Given the description of an element on the screen output the (x, y) to click on. 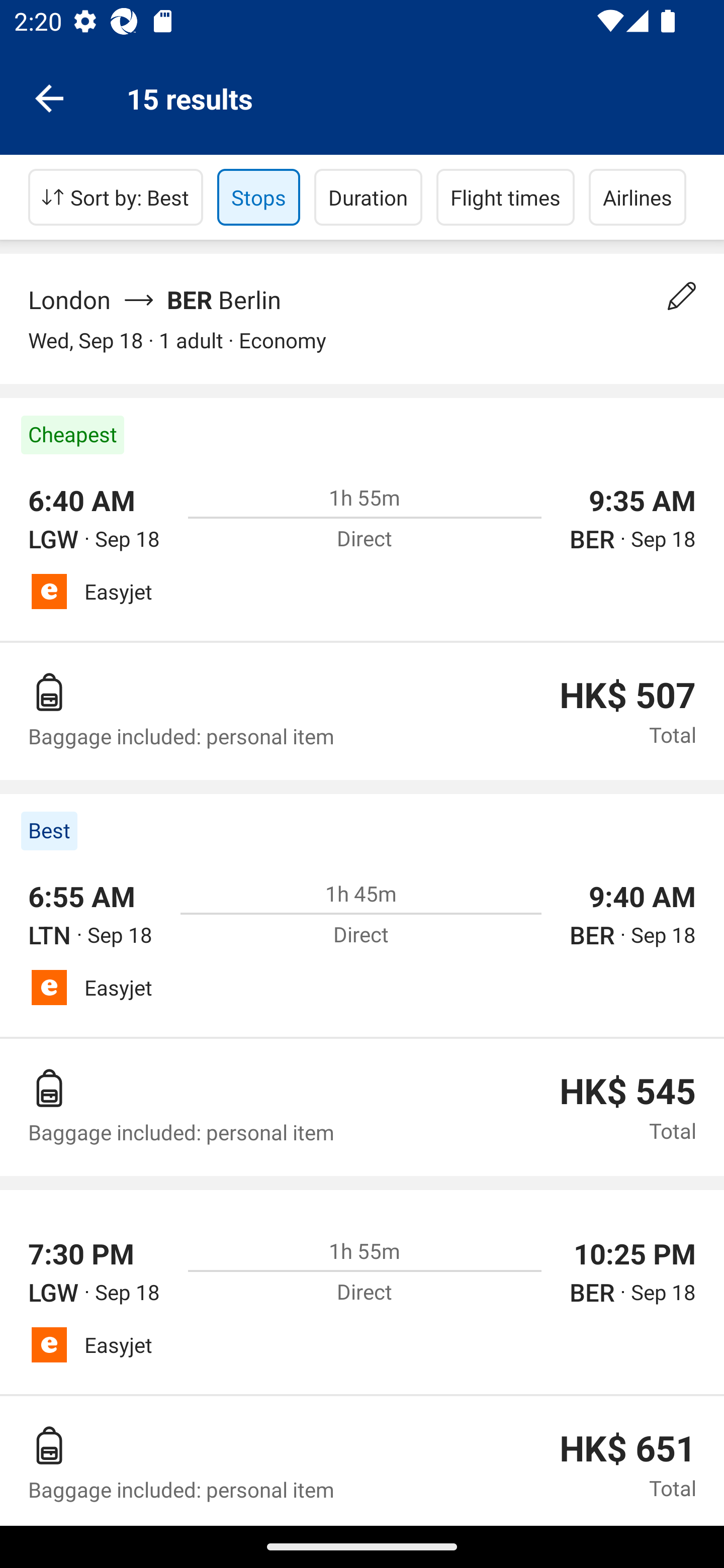
Navigate up (49, 97)
Sort by: Best (115, 197)
Stops (258, 197)
Duration (368, 197)
Flight times (505, 197)
Airlines (637, 197)
Change your search details (681, 296)
HK$ 507 (627, 695)
HK$ 545 (627, 1091)
HK$ 651 (627, 1448)
